Given the description of an element on the screen output the (x, y) to click on. 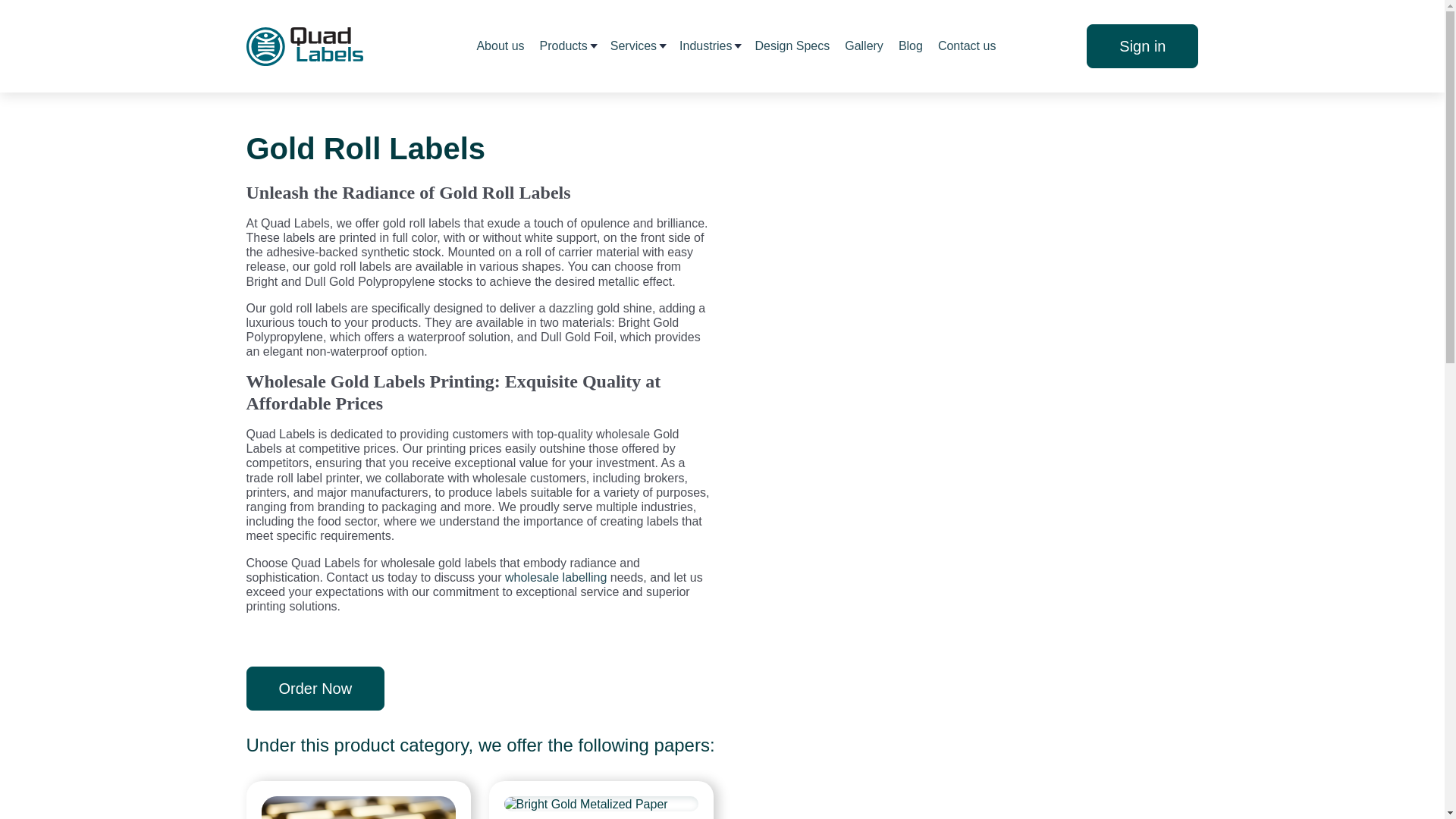
Products (564, 45)
About us (500, 45)
Services (633, 45)
